Given the description of an element on the screen output the (x, y) to click on. 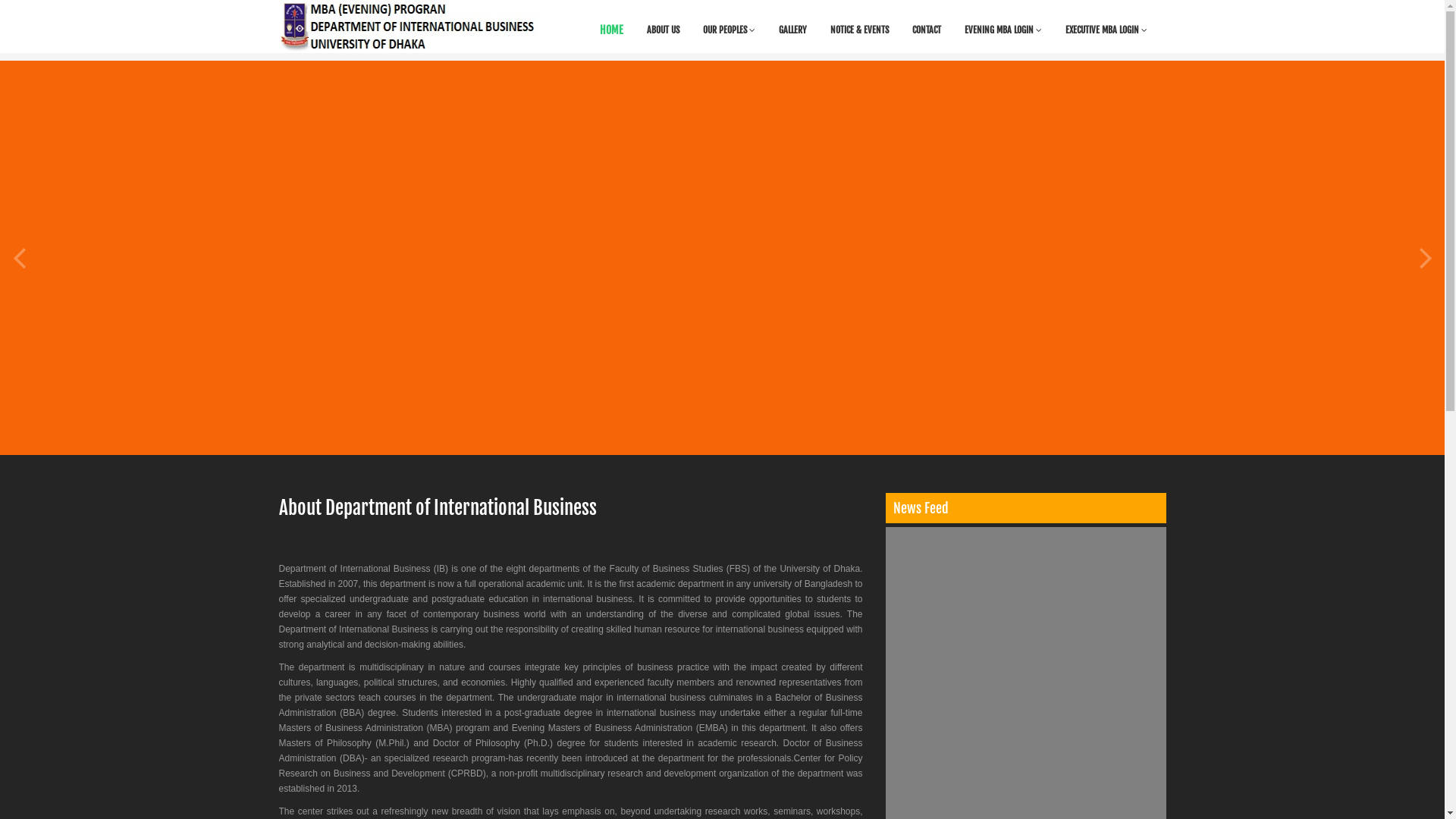
CONTACT Element type: text (926, 30)
HOME Element type: text (611, 30)
NOTICE & EVENTS Element type: text (859, 30)
OUR PEOPLES Element type: text (728, 30)
EVENING MBA LOGIN Element type: text (1002, 30)
GALLERY Element type: text (792, 30)
EXECUTIVE MBA LOGIN Element type: text (1106, 30)
ABOUT US Element type: text (662, 30)
